Given the description of an element on the screen output the (x, y) to click on. 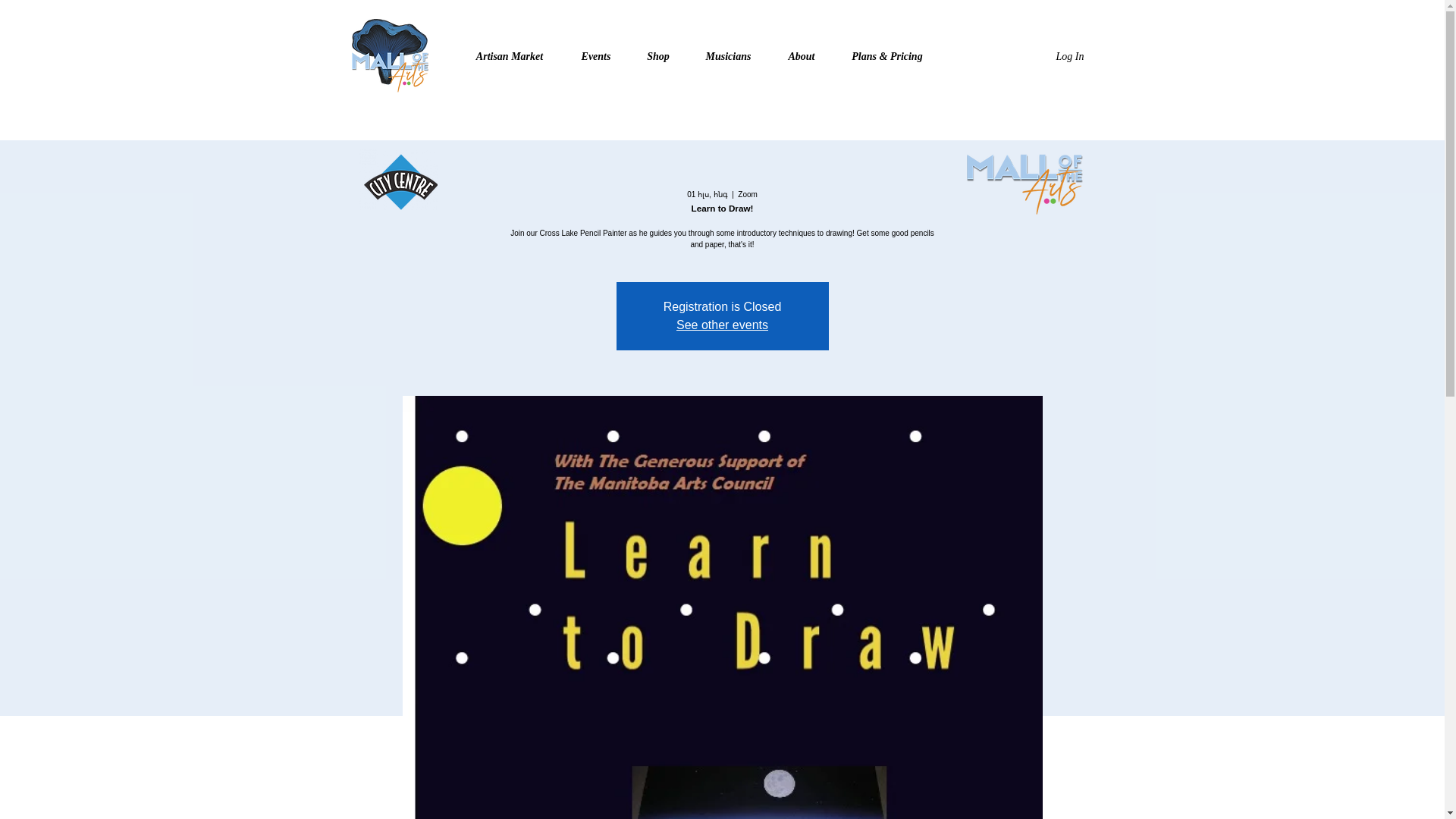
Artisan Market (510, 56)
Shop (657, 56)
See other events (722, 324)
About (800, 56)
Events (595, 56)
Log In (1054, 56)
Musicians (727, 56)
